Given the description of an element on the screen output the (x, y) to click on. 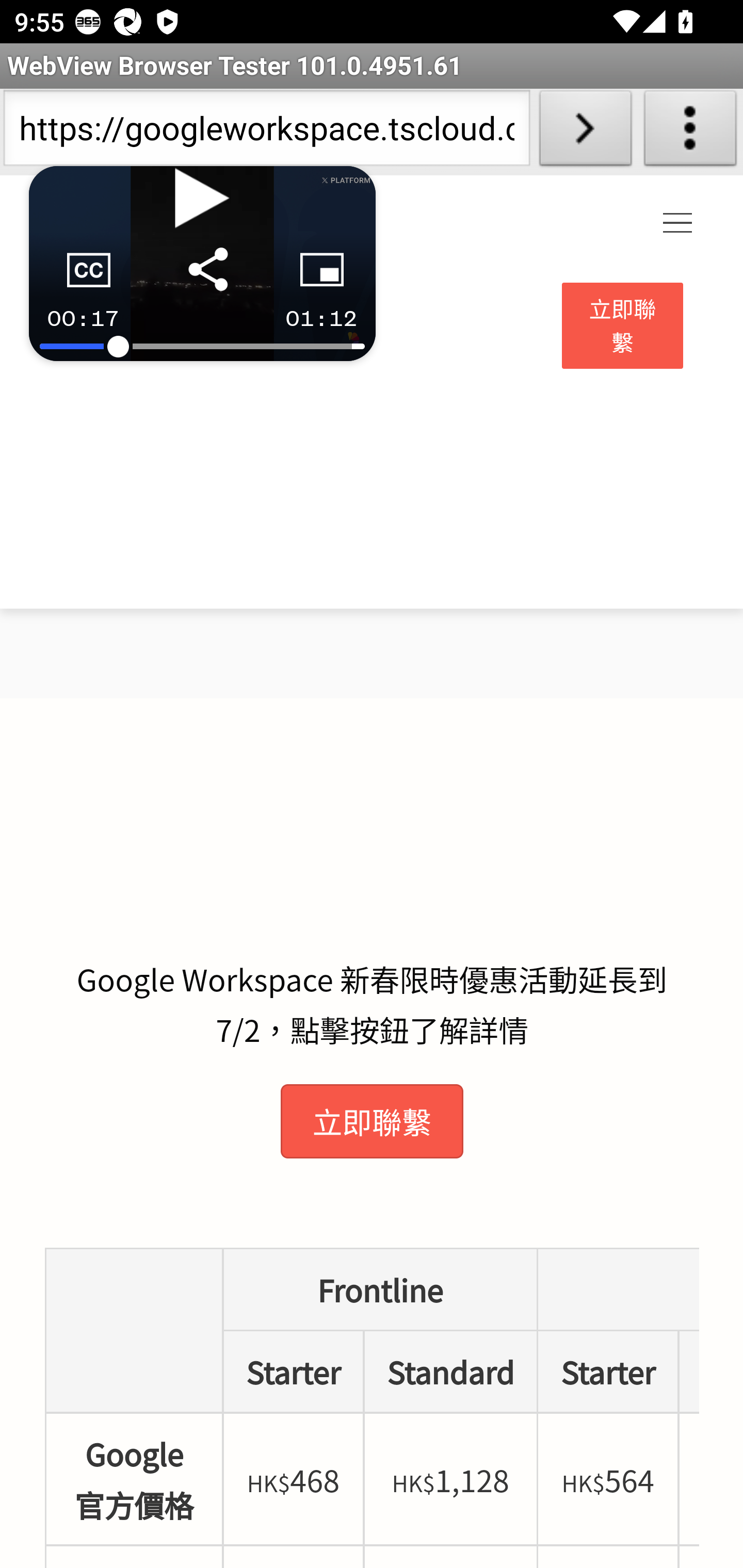
Load URL (585, 132)
About WebView (690, 132)
javascript:void(0) (677, 223)
立即聯繫 (622, 325)
立即聯繫 (371, 1120)
